Given the description of an element on the screen output the (x, y) to click on. 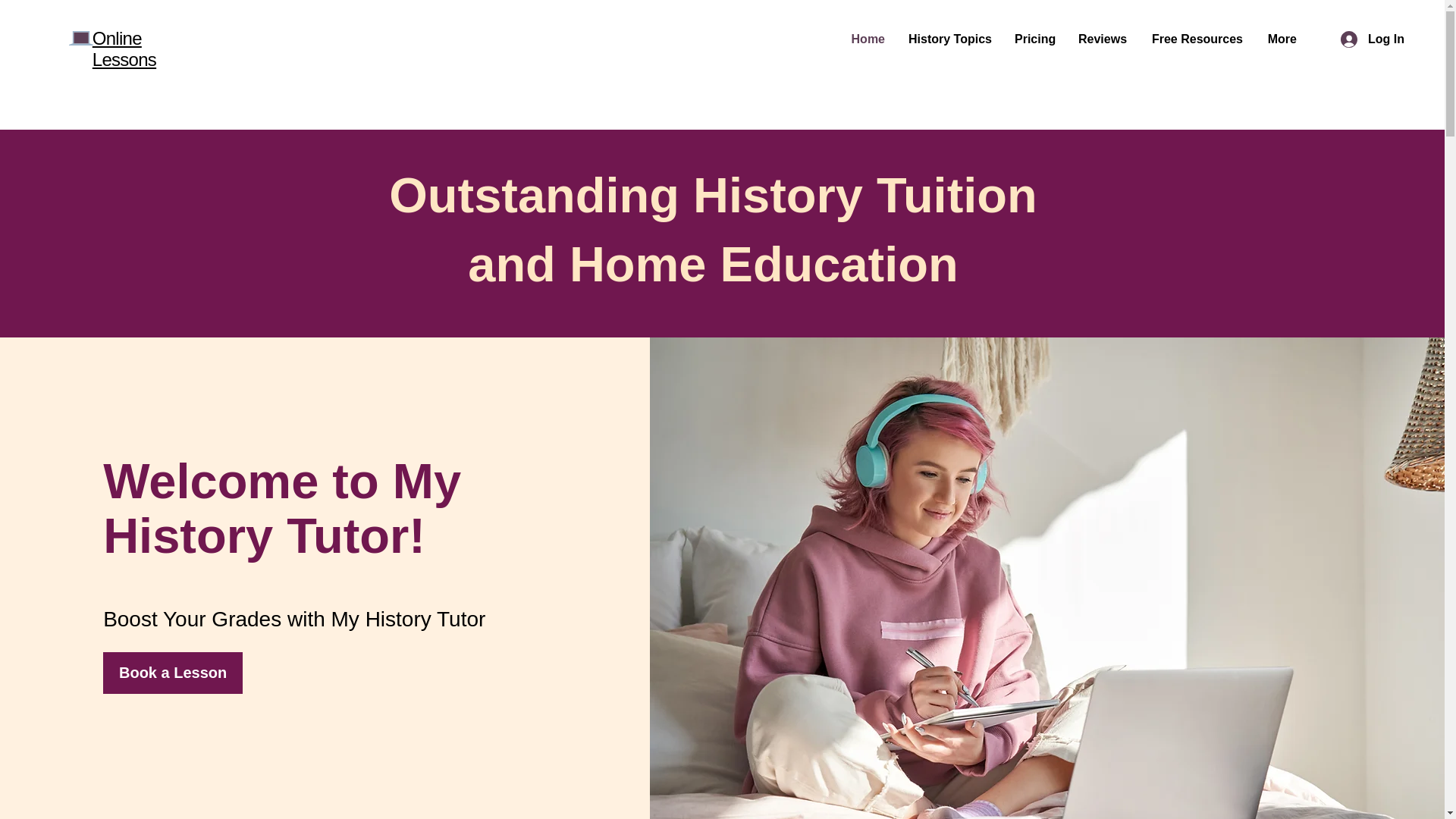
Online Lessons (124, 48)
Log In (1372, 39)
Free Resources (1195, 38)
Pricing (1035, 38)
Home (867, 38)
History Topics (949, 38)
Book a Lesson (173, 672)
Reviews (1102, 38)
